Given the description of an element on the screen output the (x, y) to click on. 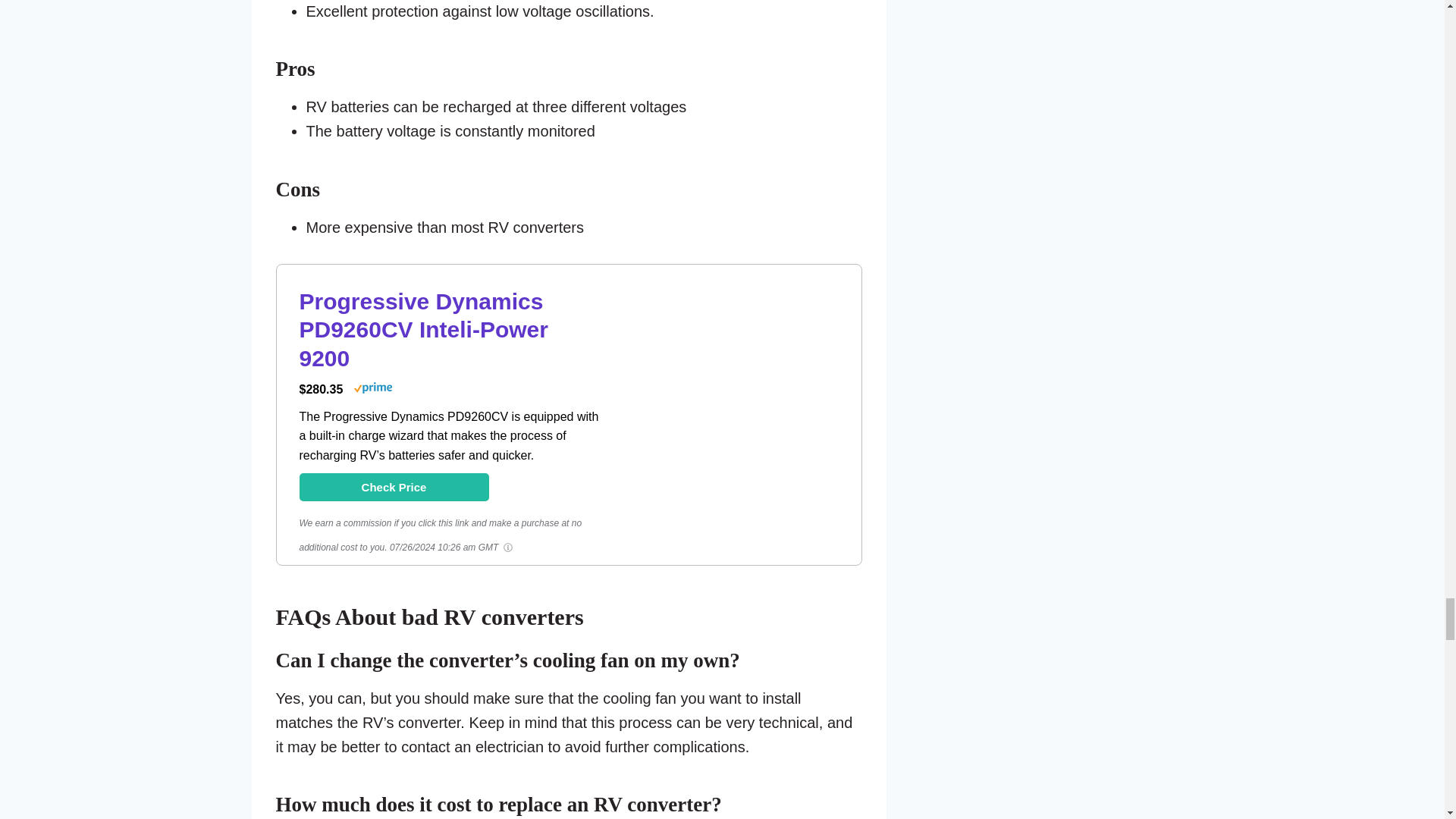
Progressive Dynamics PD9260CV Inteli-Power 9200 (392, 487)
Progressive Dynamics PD9260CV Inteli-Power 9200 (451, 330)
Progressive Dynamics PD9260CV Inteli-Power 9200 (743, 496)
